Given the description of an element on the screen output the (x, y) to click on. 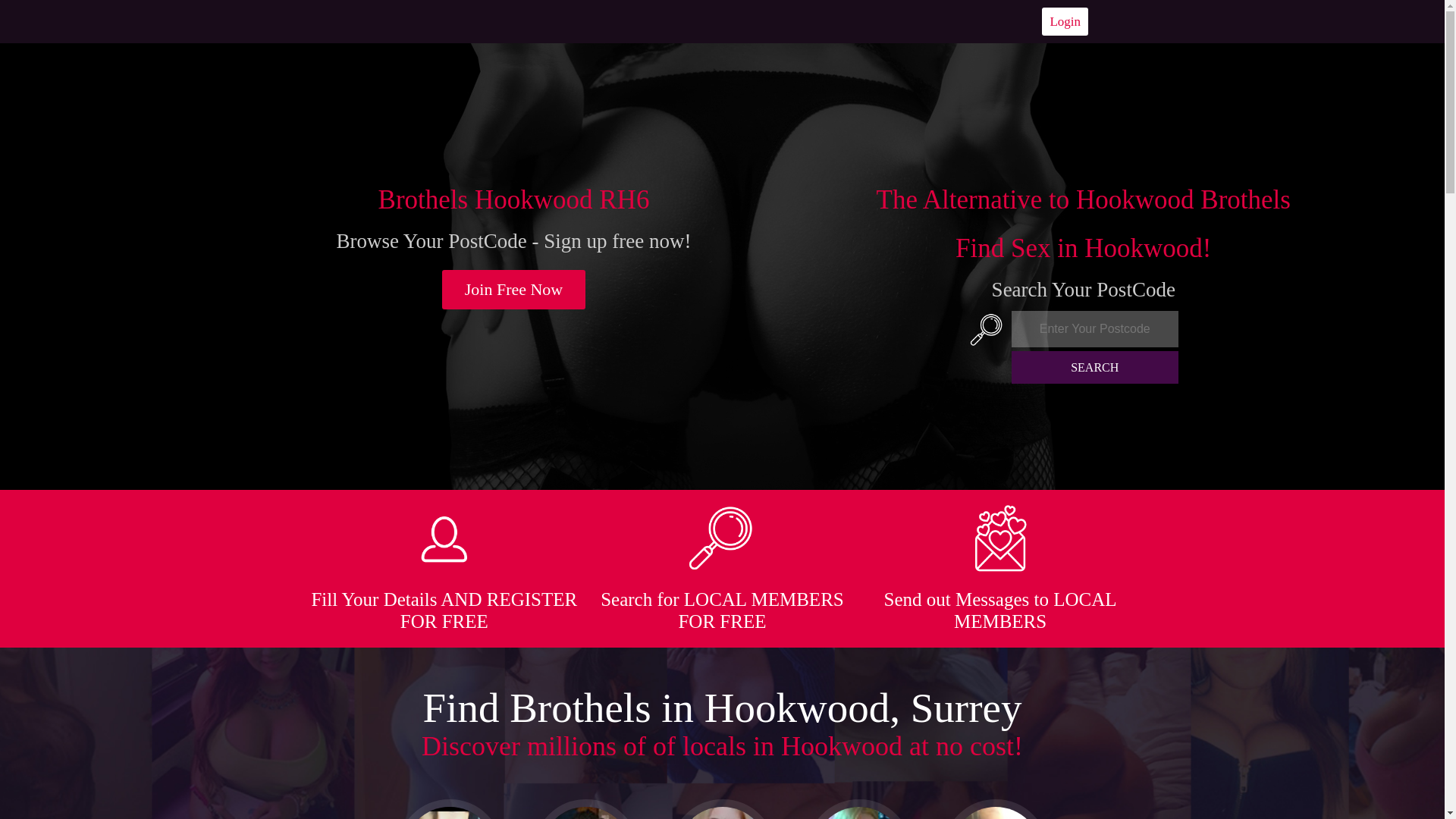
Login (1064, 21)
Login (1064, 21)
Join (514, 289)
Join Free Now (514, 289)
SEARCH (1094, 367)
